Given the description of an element on the screen output the (x, y) to click on. 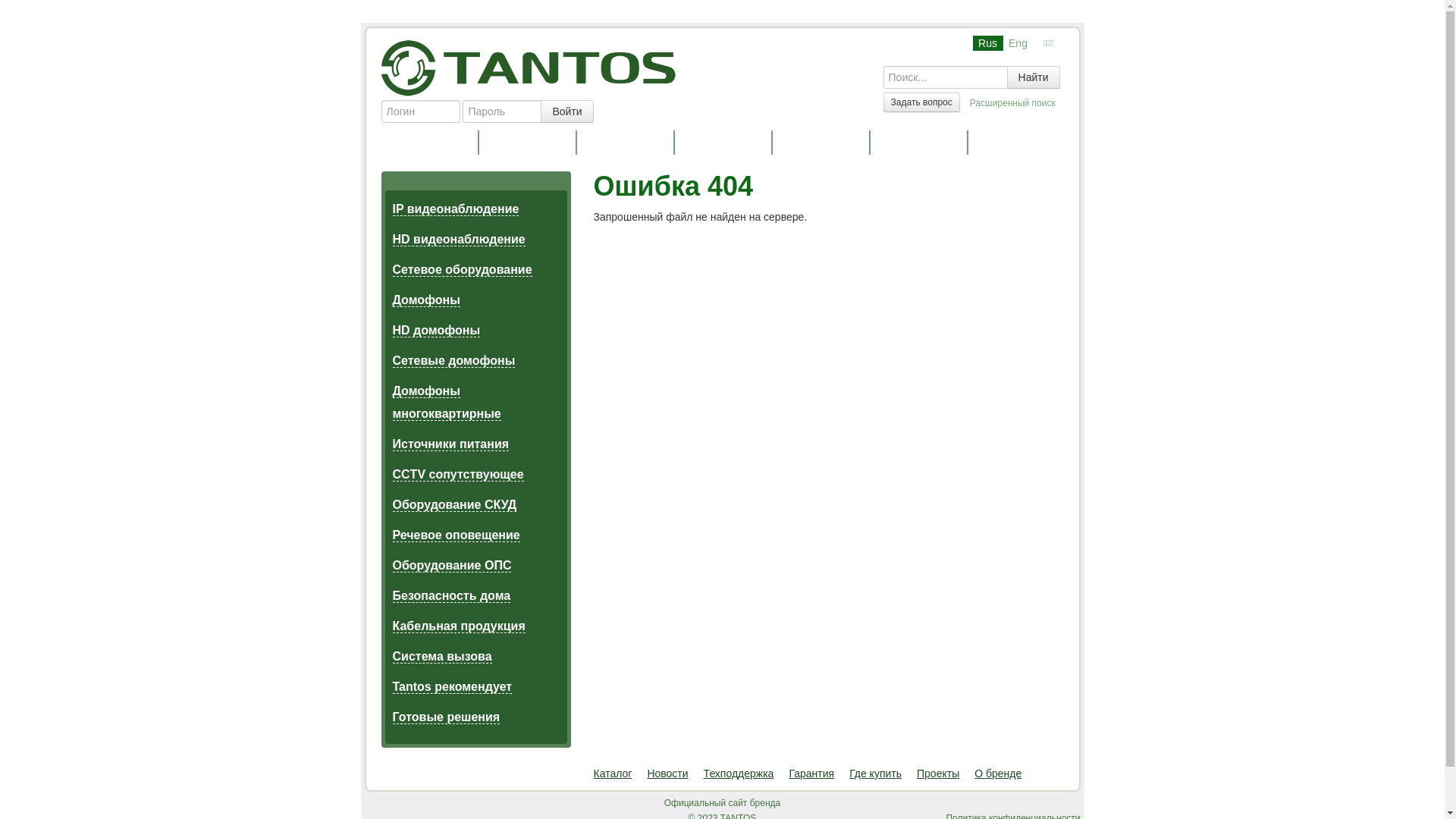
Eng Element type: text (1017, 43)
Tantos Element type: hover (528, 66)
Rus Element type: text (987, 43)
